Given the description of an element on the screen output the (x, y) to click on. 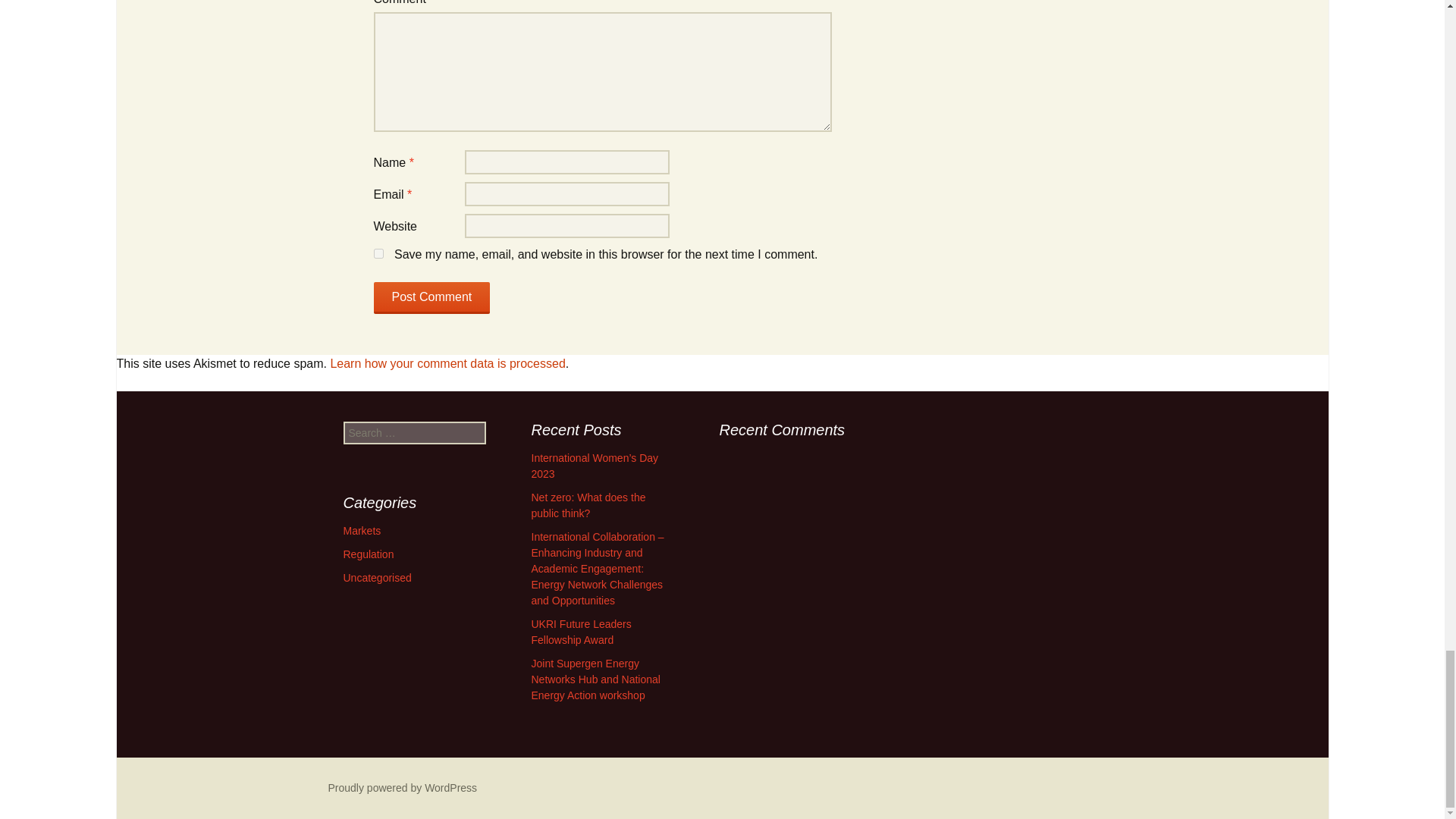
yes (377, 253)
Markets (361, 530)
Post Comment (430, 297)
Post Comment (430, 297)
Uncategorised (376, 577)
UKRI Future Leaders Fellowship Award (580, 632)
Net zero: What does the public think? (588, 505)
Learn how your comment data is processed (447, 363)
Regulation (367, 553)
